Given the description of an element on the screen output the (x, y) to click on. 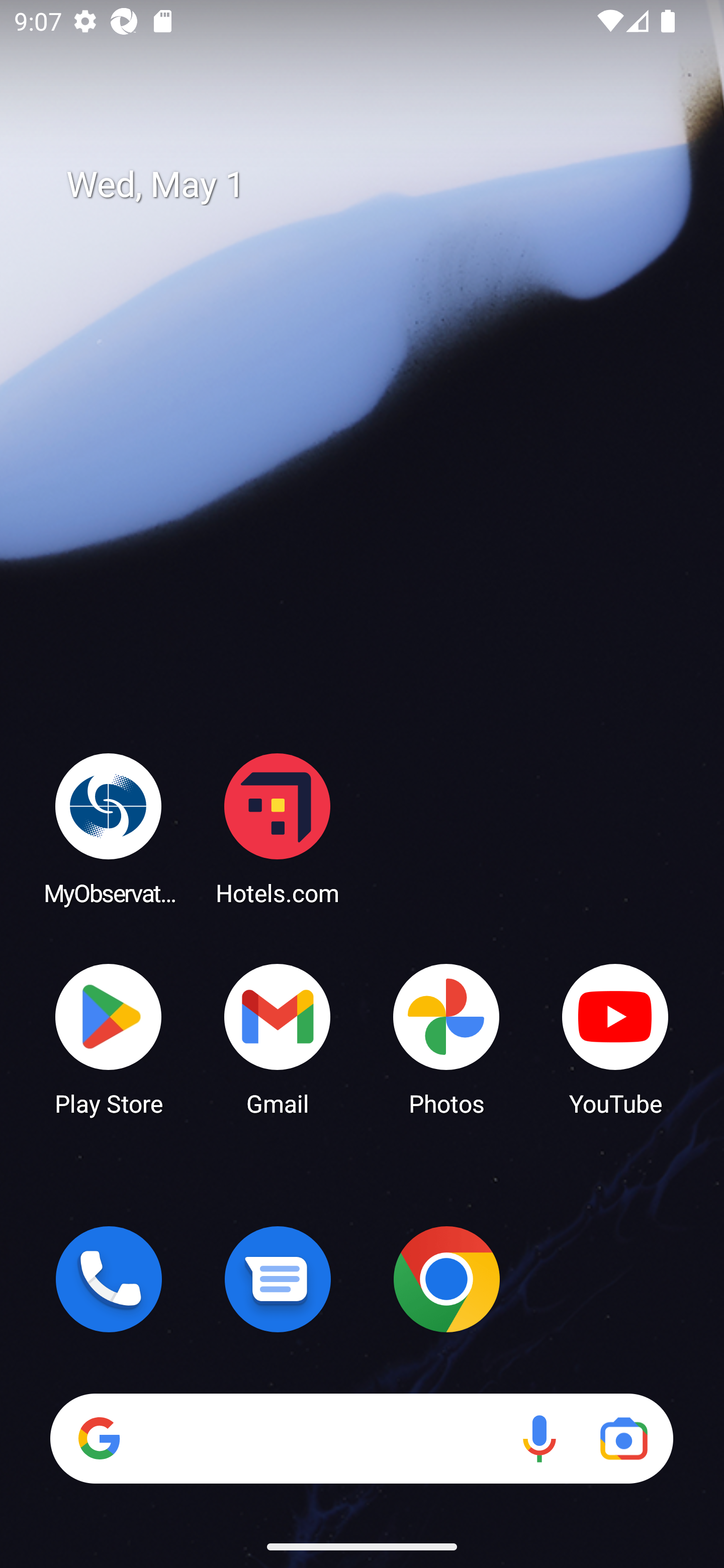
Wed, May 1 (375, 184)
MyObservatory (108, 828)
Hotels.com (277, 828)
Play Store (108, 1038)
Gmail (277, 1038)
Photos (445, 1038)
YouTube (615, 1038)
Phone (108, 1279)
Messages (277, 1279)
Chrome (446, 1279)
Search Voice search Google Lens (361, 1438)
Voice search (539, 1438)
Google Lens (623, 1438)
